Given the description of an element on the screen output the (x, y) to click on. 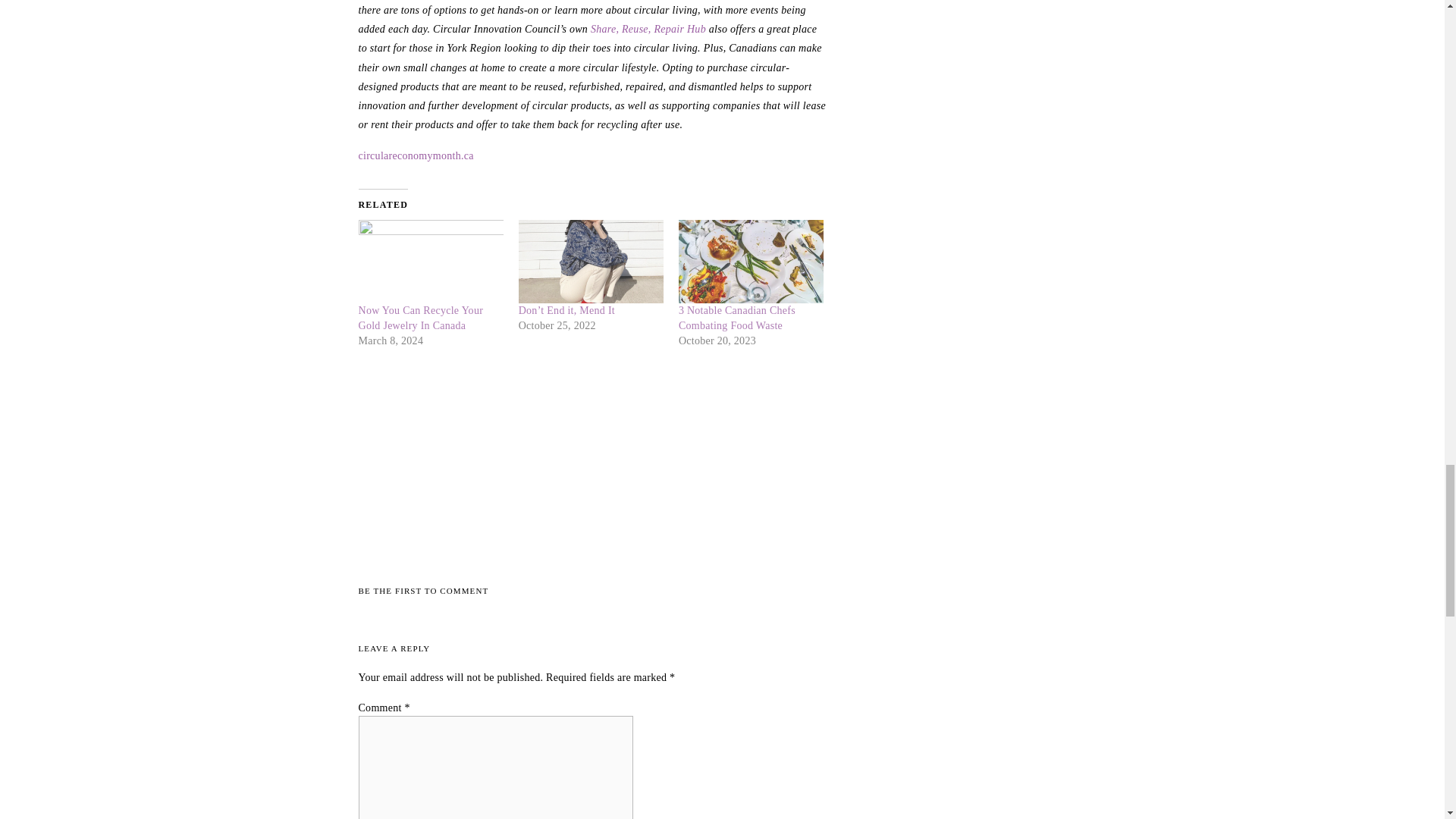
3 Notable Canadian Chefs Combating Food Waste (751, 261)
3 Notable Canadian Chefs Combating Food Waste (736, 317)
Now You Can Recycle Your Gold Jewelry In Canada (430, 261)
Now You Can Recycle Your Gold Jewelry In Canada (420, 317)
